Given the description of an element on the screen output the (x, y) to click on. 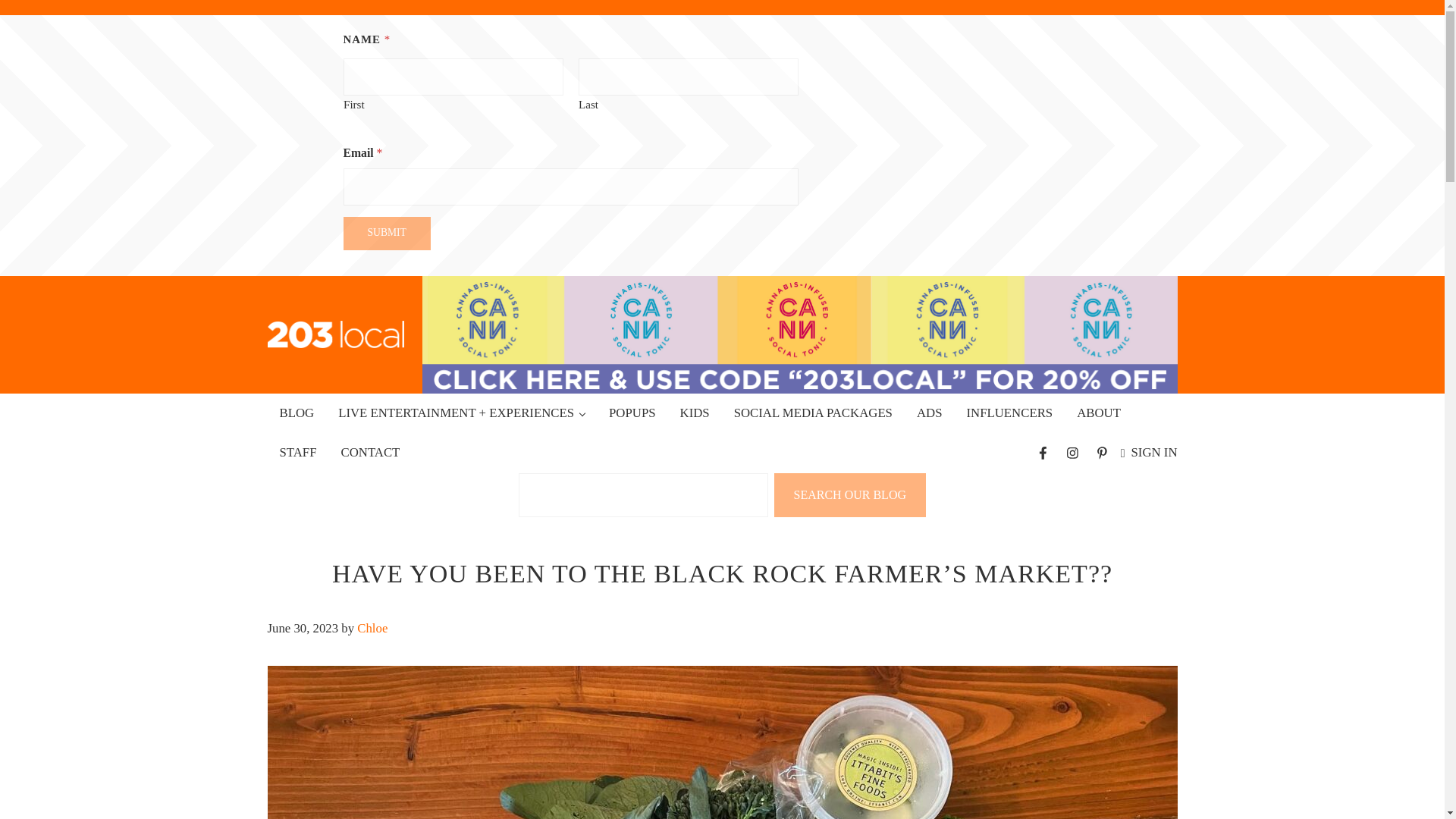
ABOUT (1098, 413)
STAFF (297, 452)
INFLUENCERS (1008, 413)
CONTACT (370, 452)
BLOG (296, 413)
SOCIAL MEDIA PACKAGES (813, 413)
POPUPS (632, 413)
KIDS (695, 413)
SUBMIT (385, 233)
ADS (929, 413)
